Given the description of an element on the screen output the (x, y) to click on. 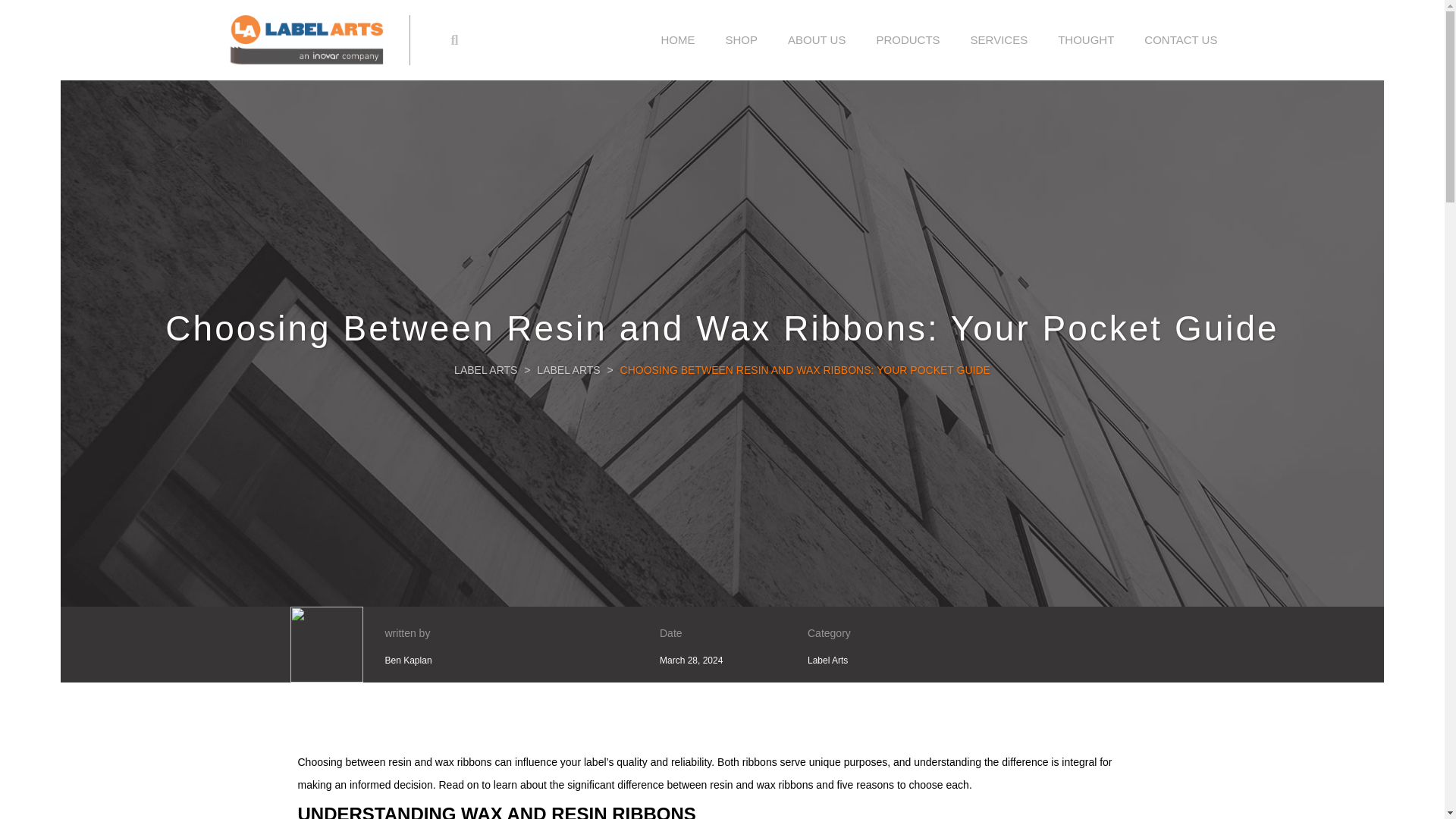
LABEL ARTS (485, 369)
Go to Label Arts. (485, 369)
Posts by Ben Kaplan (408, 660)
Label Arts (827, 660)
SHOP (741, 39)
CONTACT US (1180, 39)
SERVICES (999, 39)
ABOUT US (816, 39)
Ben Kaplan (408, 660)
PRODUCTS (907, 39)
